Given the description of an element on the screen output the (x, y) to click on. 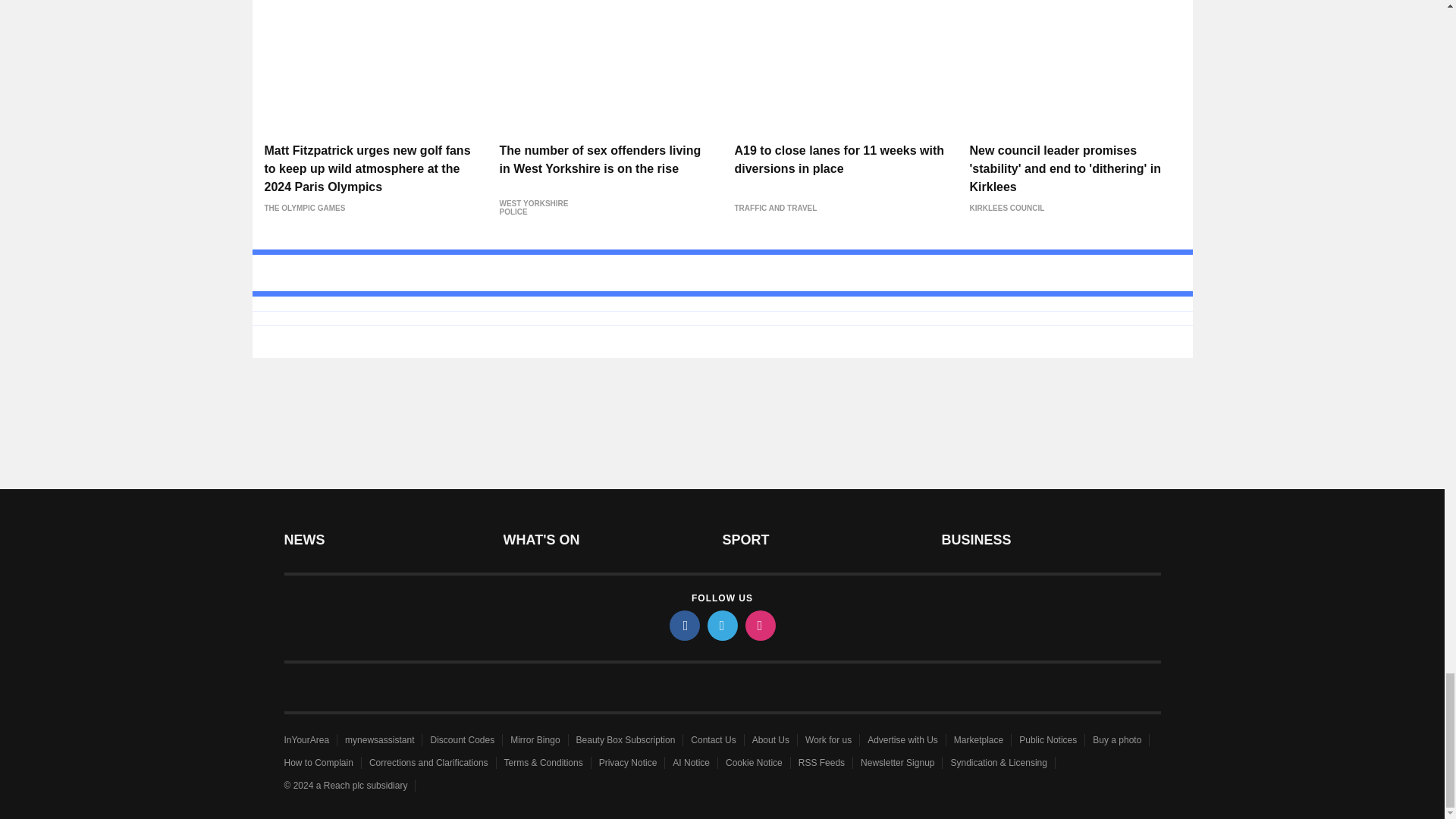
instagram (759, 625)
facebook (683, 625)
twitter (721, 625)
